Given the description of an element on the screen output the (x, y) to click on. 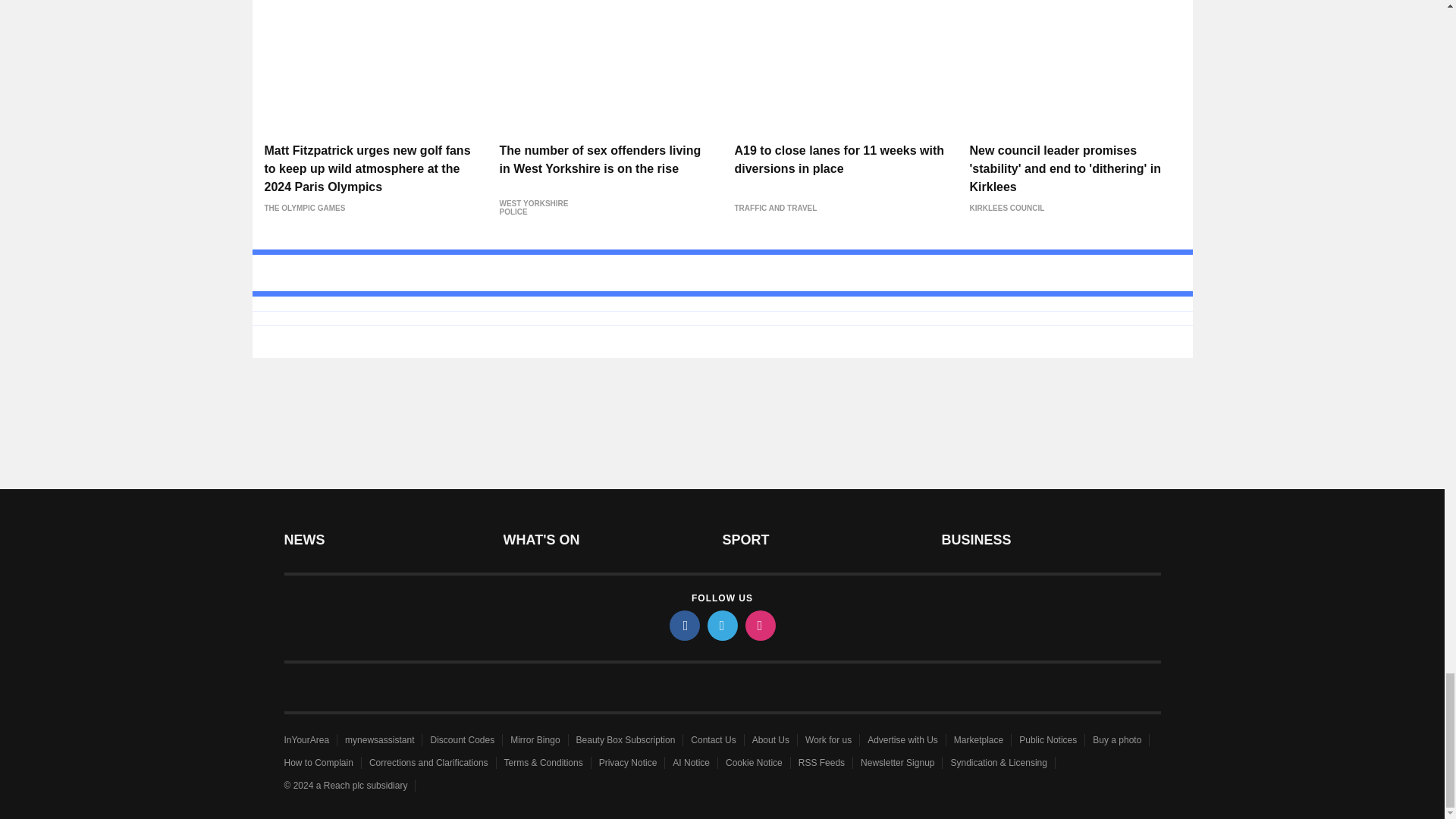
instagram (759, 625)
facebook (683, 625)
twitter (721, 625)
